Given the description of an element on the screen output the (x, y) to click on. 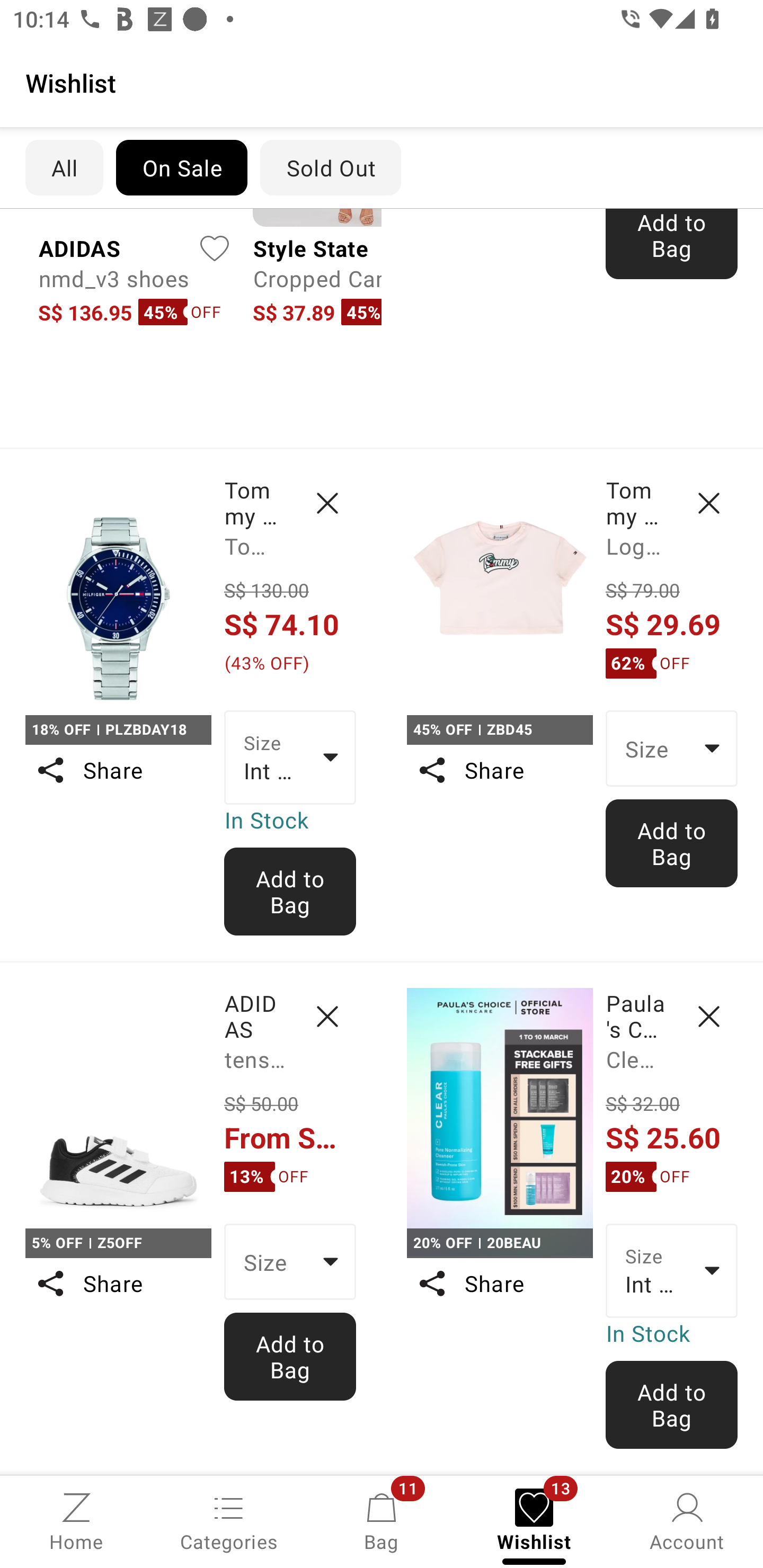
Wishlist (381, 82)
All (64, 167)
On Sale (181, 167)
Sold Out (330, 167)
Add to Bag (671, 243)
Size Int One Size (290, 757)
Size (671, 748)
Share (118, 769)
Share (499, 769)
Add to Bag (671, 843)
Add to Bag (290, 892)
Size (290, 1261)
Size Int 177 ml (671, 1270)
Share (118, 1283)
Share (499, 1283)
Add to Bag (290, 1356)
Add to Bag (671, 1404)
Home (76, 1519)
Categories (228, 1519)
Bag, 11 new notifications Bag (381, 1519)
Account (686, 1519)
